Given the description of an element on the screen output the (x, y) to click on. 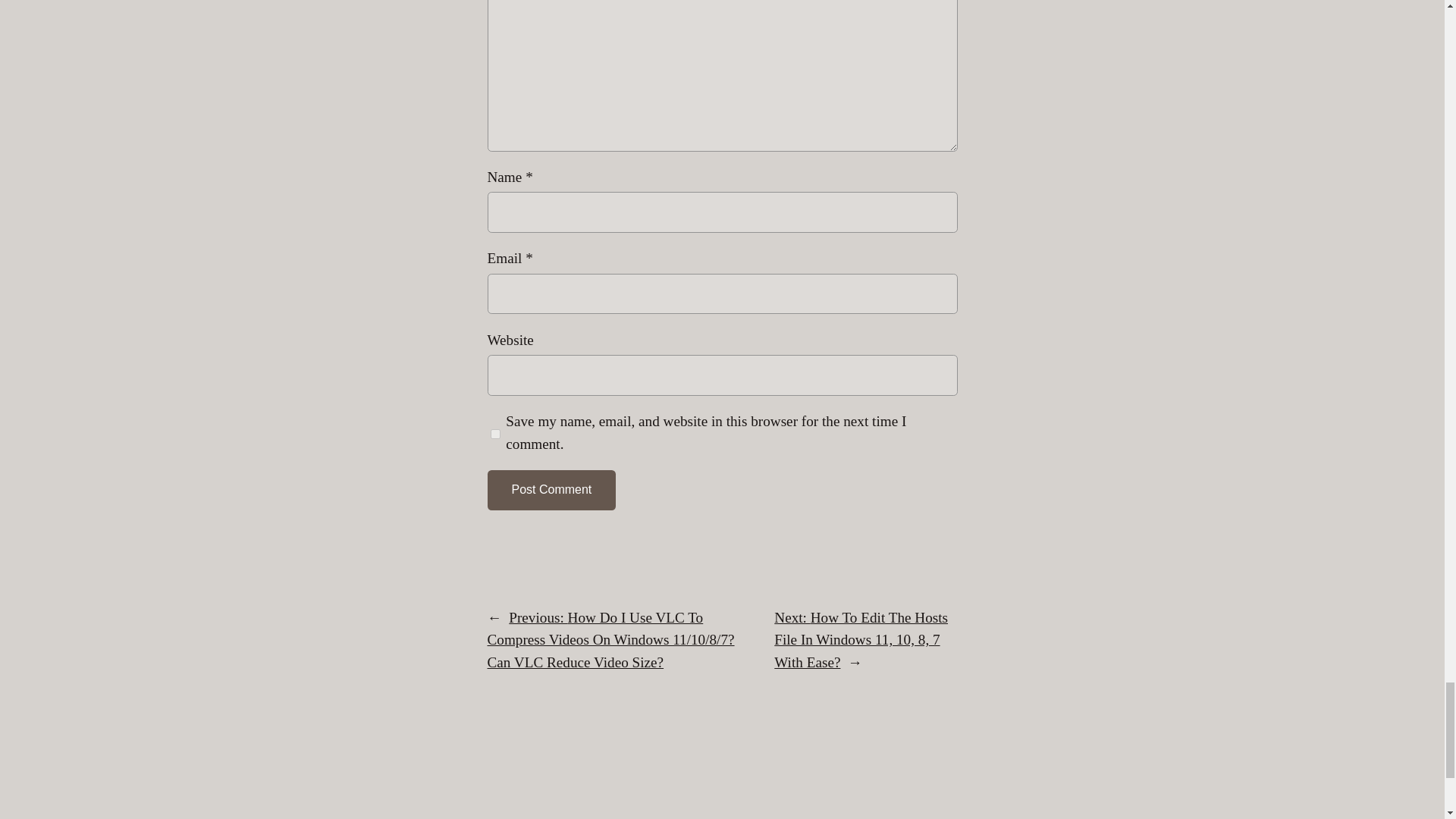
Post Comment (550, 490)
Post Comment (550, 490)
